Given the description of an element on the screen output the (x, y) to click on. 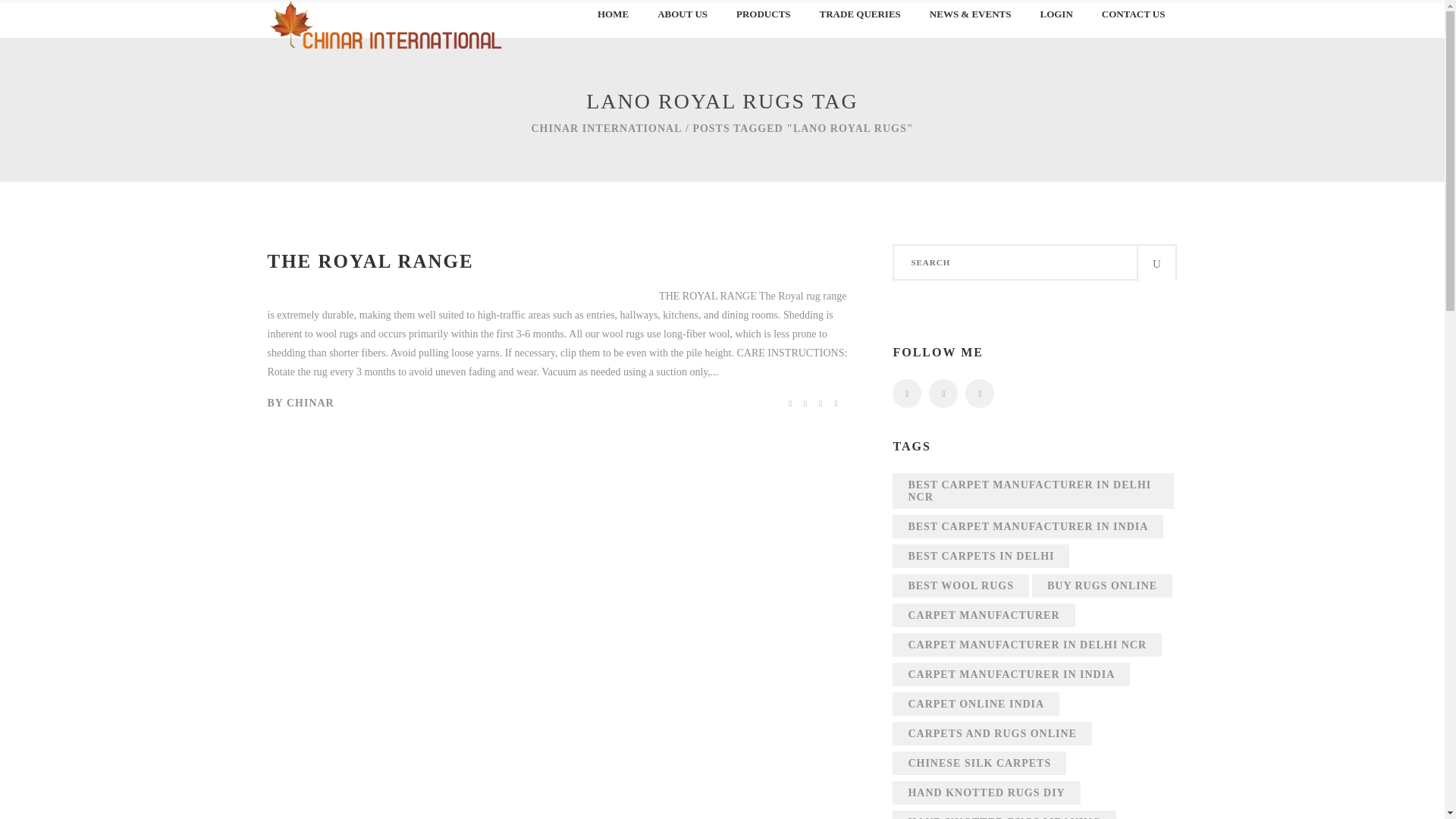
PRODUCTS (761, 24)
U (988, 412)
U (1155, 263)
THE ROYAL RANGE (369, 260)
ABOUT US (679, 24)
HOME (610, 24)
LOGIN (1053, 24)
TRADE QUERIES (857, 24)
CONTACT US (1130, 24)
